Given the description of an element on the screen output the (x, y) to click on. 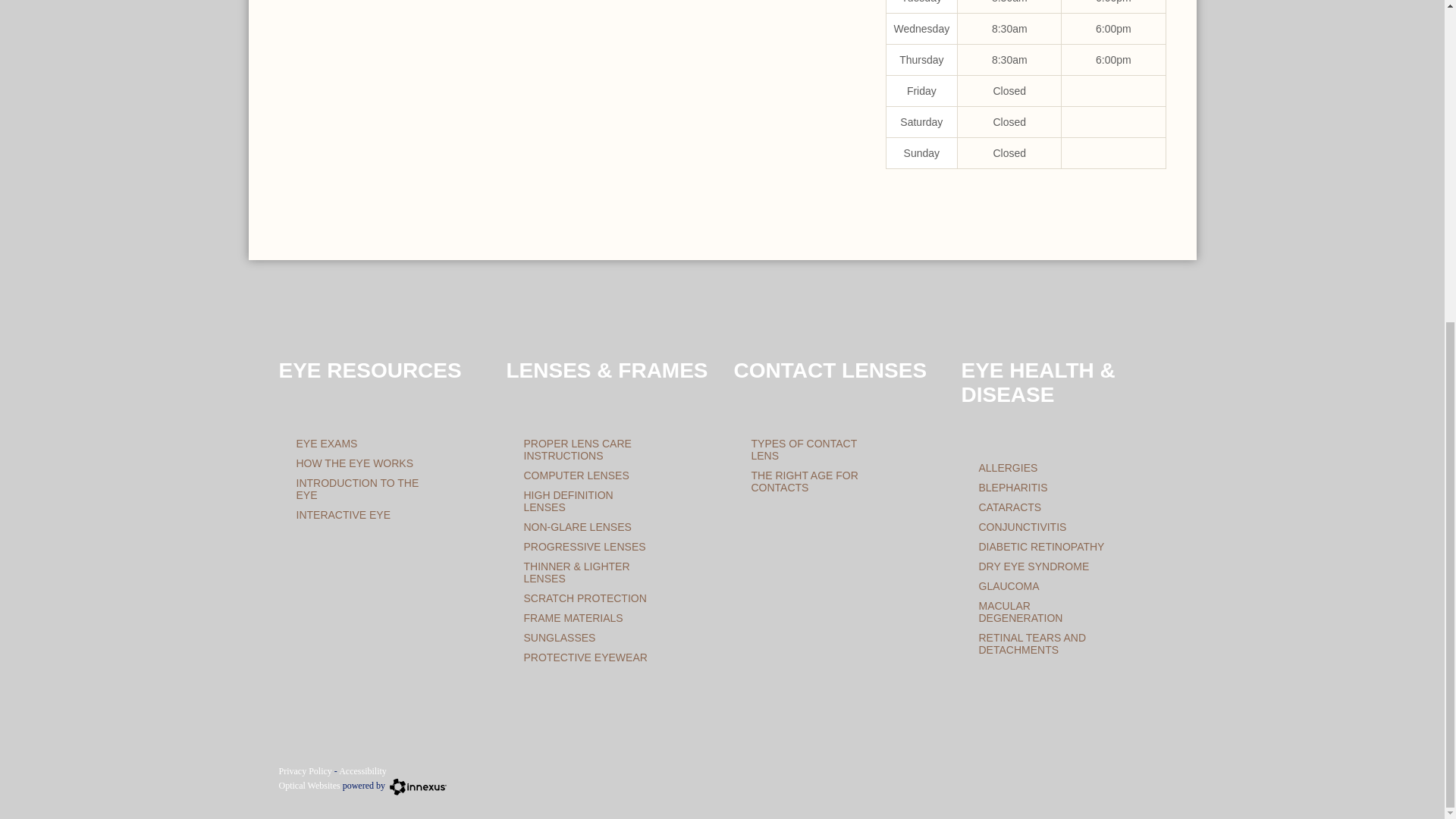
TYPES OF CONTACT LENS (804, 449)
FRAME MATERIALS (572, 617)
CATARACTS (1009, 507)
INTRODUCTION TO THE EYE (357, 488)
SCRATCH PROTECTION (584, 598)
DIABETIC RETINOPATHY (1040, 546)
Privacy Policy (305, 770)
PROGRESSIVE LENSES (583, 546)
COMPUTER LENSES (575, 475)
MACULAR DEGENERATION (1020, 611)
HOW THE EYE WORKS (354, 463)
GLAUCOMA (1008, 585)
ALLERGIES (1007, 467)
Accessibility (363, 770)
PROTECTIVE EYEWEAR (584, 657)
